Given the description of an element on the screen output the (x, y) to click on. 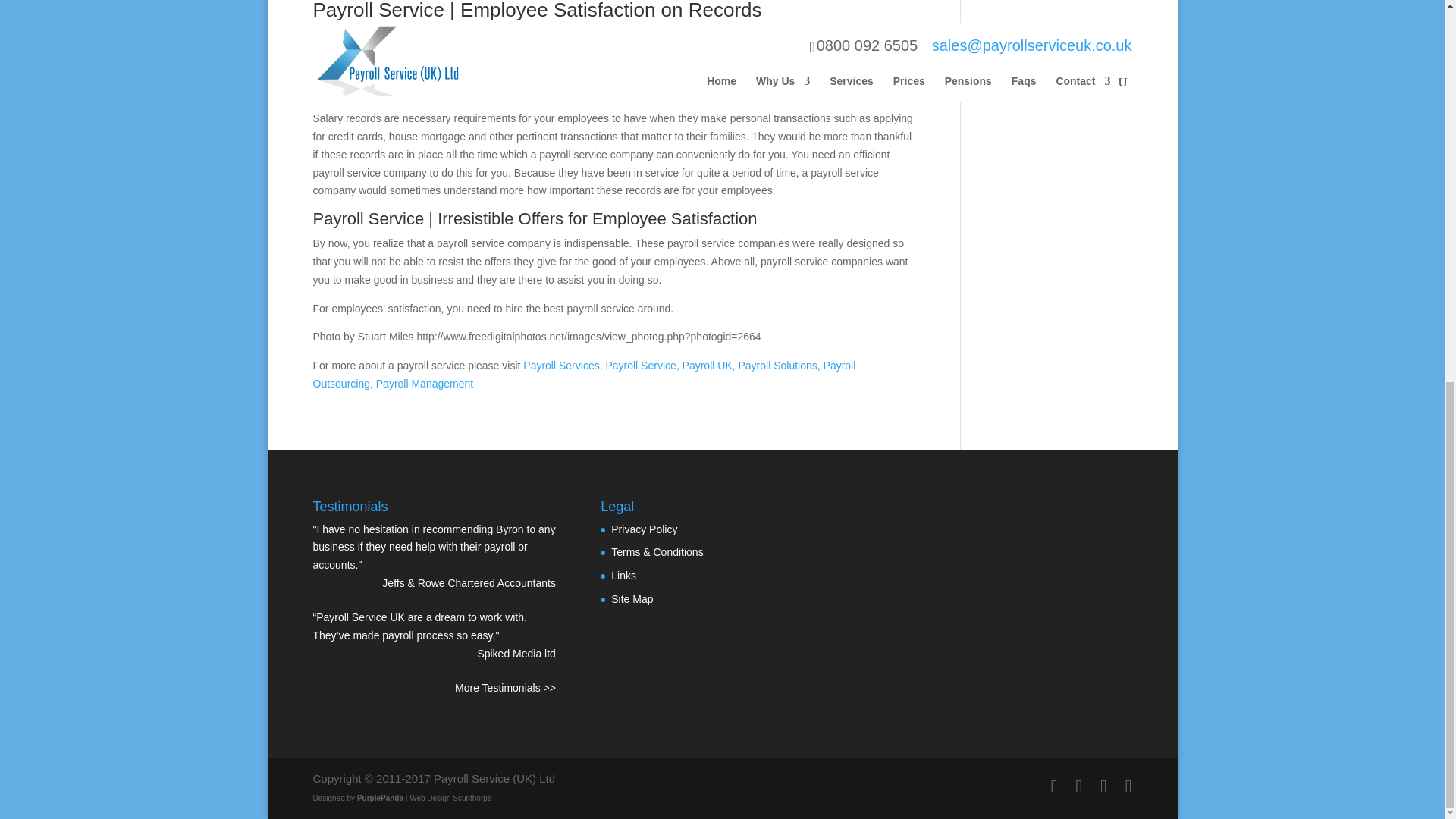
Privacy Policy (644, 529)
Spiked Media ltd (516, 654)
Site Map (631, 598)
PurplePanda web design scunthorpe (379, 797)
Links (623, 575)
